Given the description of an element on the screen output the (x, y) to click on. 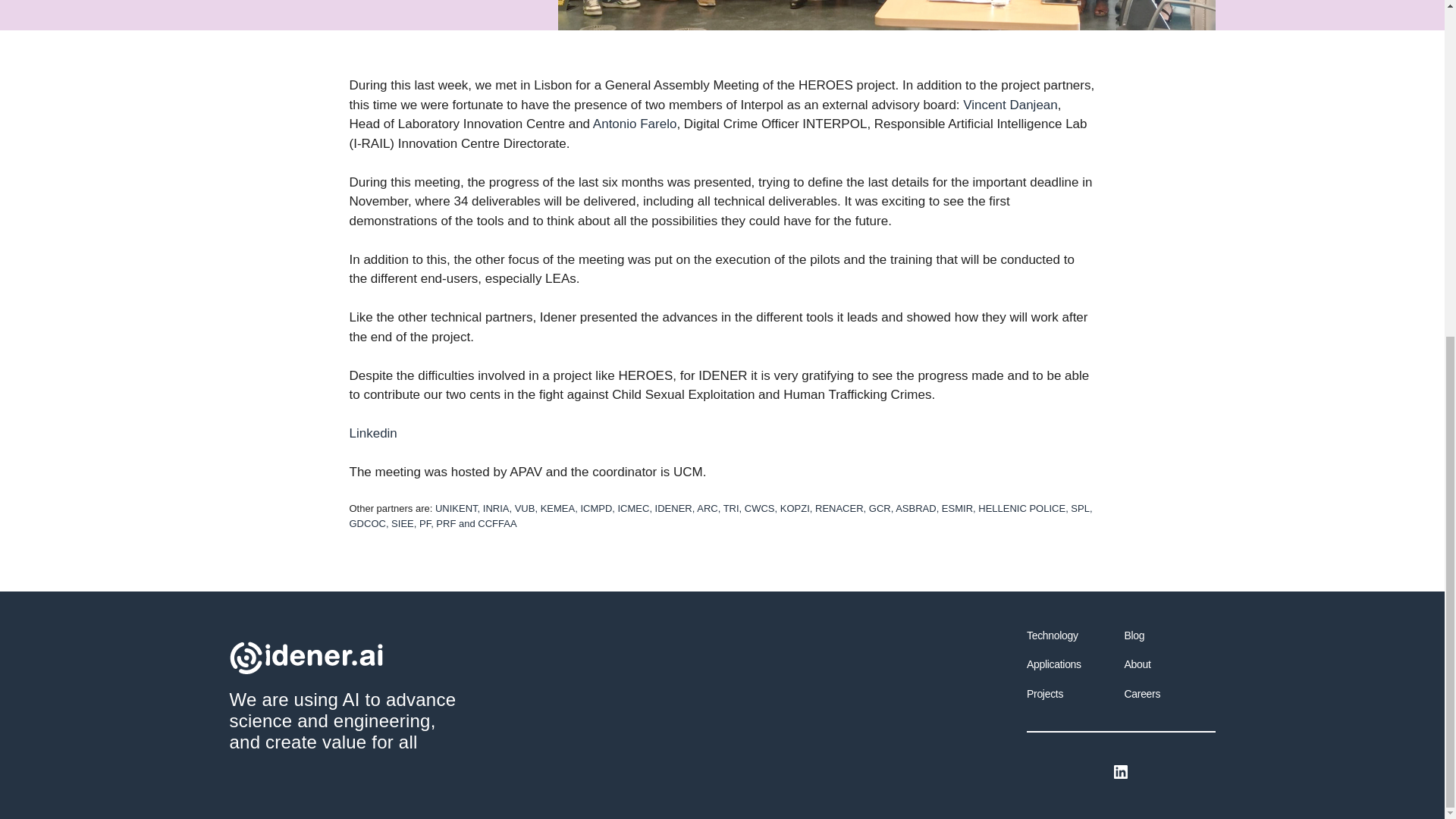
Projects (1044, 693)
Vincent Danjean (1009, 104)
Blog (1134, 635)
Careers (1142, 693)
Technology (1052, 635)
About (1137, 664)
Antonio Farelo (634, 124)
Applications (1053, 664)
LinkedIn (1120, 771)
